Given the description of an element on the screen output the (x, y) to click on. 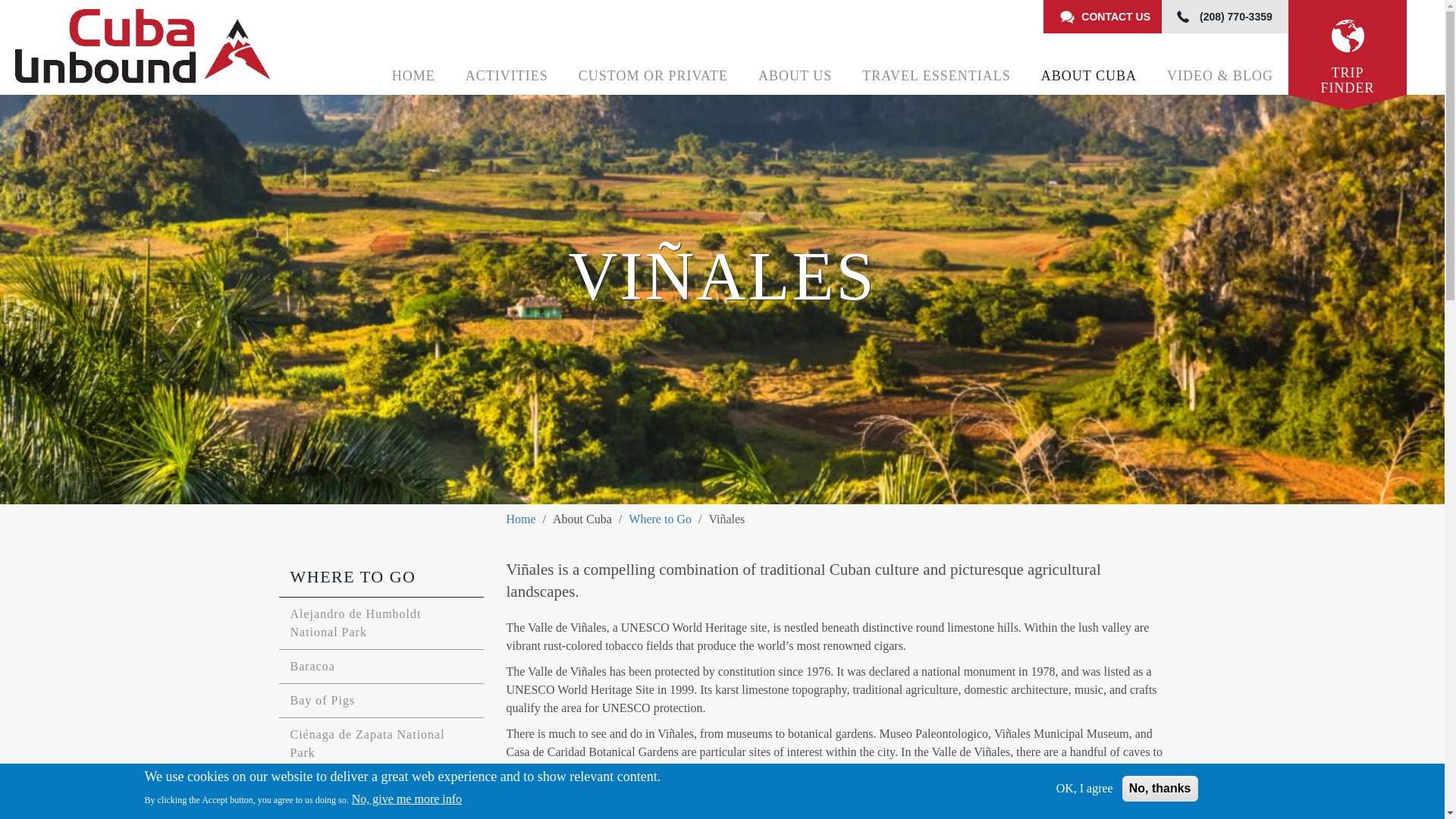
CUSTOM OR PRIVATE (652, 75)
ABOUT US (794, 75)
HOME (413, 75)
Home (180, 47)
ABOUT CUBA (1088, 75)
TRAVEL ESSENTIALS (936, 75)
Home (413, 75)
ACTIVITIES (506, 75)
CONTACT US (1102, 16)
